Given the description of an element on the screen output the (x, y) to click on. 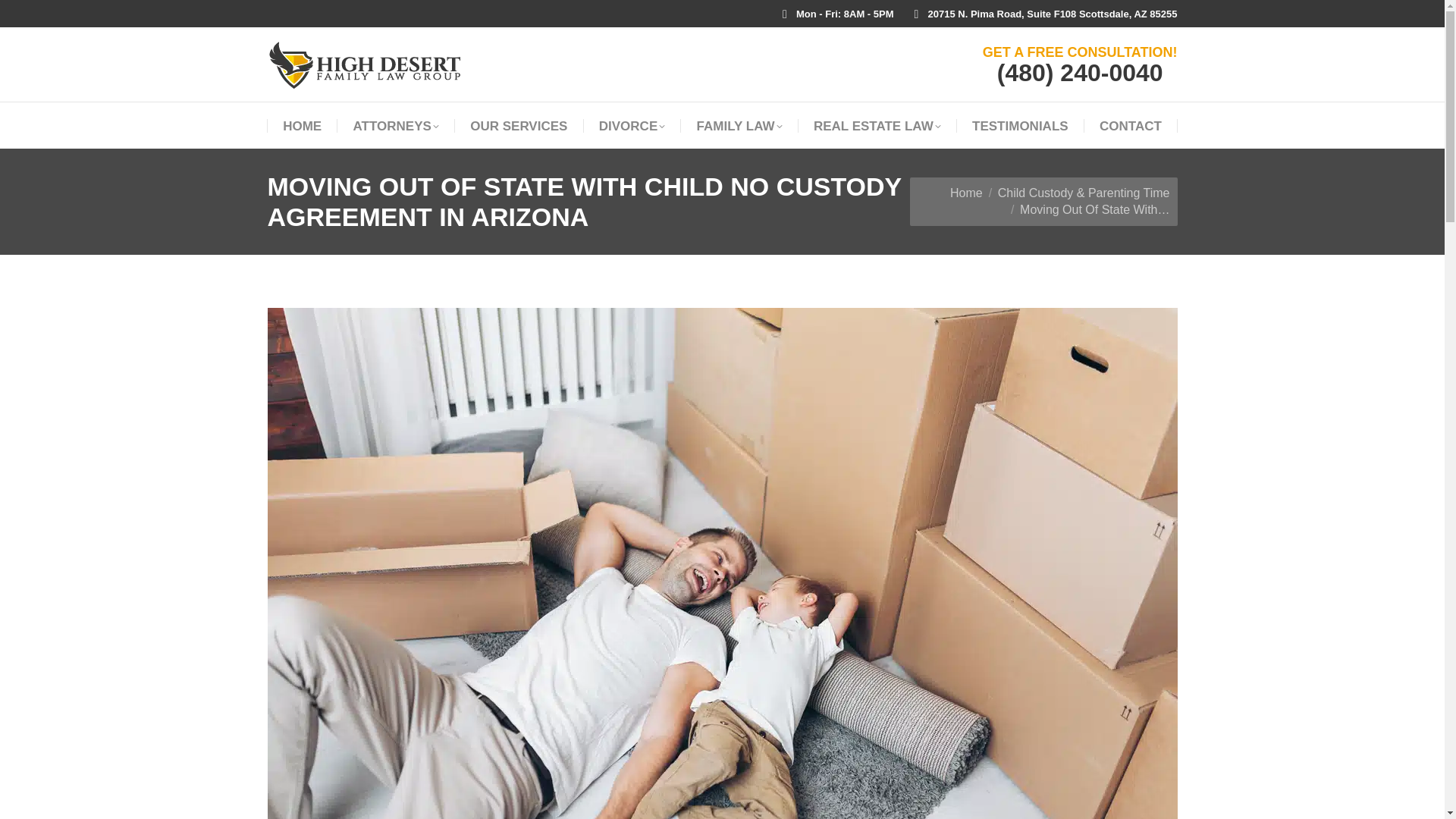
Home (966, 192)
OUR SERVICES (518, 126)
HOME (301, 126)
FAMILY LAW (740, 126)
ATTORNEYS (396, 126)
TESTIMONIALS (1020, 126)
DIVORCE (631, 126)
REAL ESTATE LAW (876, 126)
CONTACT (1130, 126)
